Given the description of an element on the screen output the (x, y) to click on. 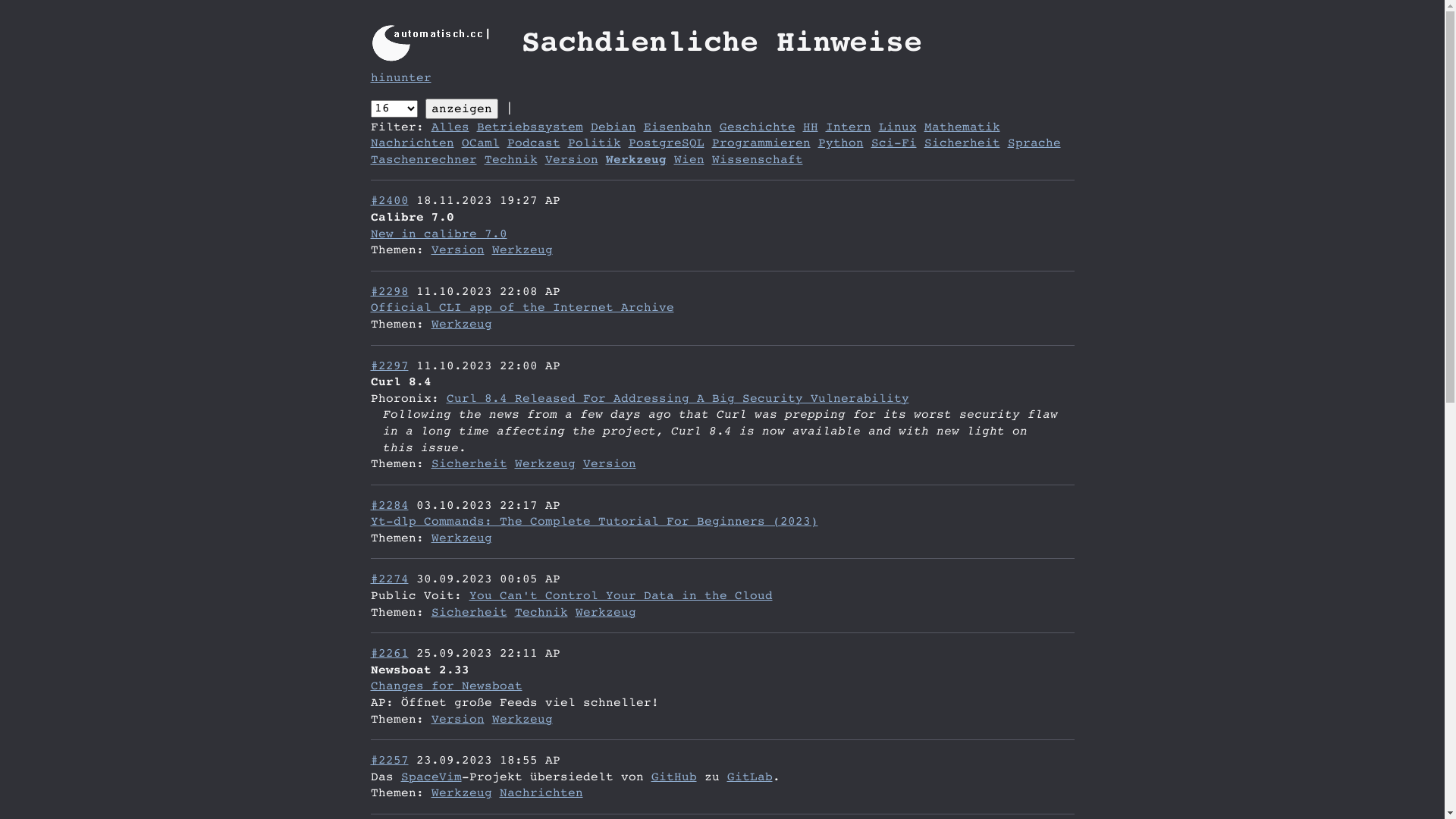
Official CLI app of the Internet Archive Element type: text (521, 307)
Werkzeug Element type: text (635, 159)
Version Element type: text (456, 719)
Nachrichten Element type: text (540, 792)
#2284 Element type: text (388, 505)
Alles Element type: text (449, 126)
Werkzeug Element type: text (460, 323)
Taschenrechner Element type: text (423, 159)
GitHub Element type: text (673, 776)
Debian Element type: text (612, 126)
Technik Element type: text (540, 612)
Programmieren Element type: text (760, 142)
#2297 Element type: text (388, 365)
Sicherheit Element type: text (468, 612)
Wien Element type: text (688, 159)
Version Element type: text (608, 463)
Geschichte Element type: text (756, 126)
Werkzeug Element type: text (544, 463)
Betriebssystem Element type: text (529, 126)
You Can't Control Your Data in the Cloud Element type: text (619, 595)
Intern Element type: text (847, 126)
Werkzeug Element type: text (521, 249)
Sprache Element type: text (1033, 142)
#2274 Element type: text (388, 578)
Yt-dlp Commands: The Complete Tutorial For Beginners (2023) Element type: text (593, 521)
Python Element type: text (839, 142)
Version Element type: text (570, 159)
Sicherheit Element type: text (468, 463)
Eisenbahn Element type: text (677, 126)
New in calibre 7.0 Element type: text (438, 233)
Werkzeug Element type: text (460, 537)
Mathematik Element type: text (961, 126)
SpaceVim Element type: text (430, 776)
Werkzeug Element type: text (460, 792)
#2298 Element type: text (388, 291)
Version Element type: text (456, 249)
anzeigen Element type: text (460, 108)
PostgreSQL Element type: text (665, 142)
Politik Element type: text (593, 142)
Changes for Newsboat Element type: text (445, 685)
hinunter Element type: text (400, 77)
OCaml Element type: text (479, 142)
HH Element type: text (809, 126)
Werkzeug Element type: text (604, 612)
Podcast Element type: text (532, 142)
#2257 Element type: text (388, 760)
#2261 Element type: text (388, 653)
#2400 Element type: text (388, 200)
Nachrichten Element type: text (411, 142)
Wissenschaft Element type: text (756, 159)
GitLab Element type: text (748, 776)
Linux Element type: text (897, 126)
Technik Element type: text (509, 159)
www.automatisch.cc :: Sachdienliche Hinweise Element type: text (439, 42)
Sci-Fi Element type: text (893, 142)
Sicherheit Element type: text (961, 142)
Werkzeug Element type: text (521, 719)
